Given the description of an element on the screen output the (x, y) to click on. 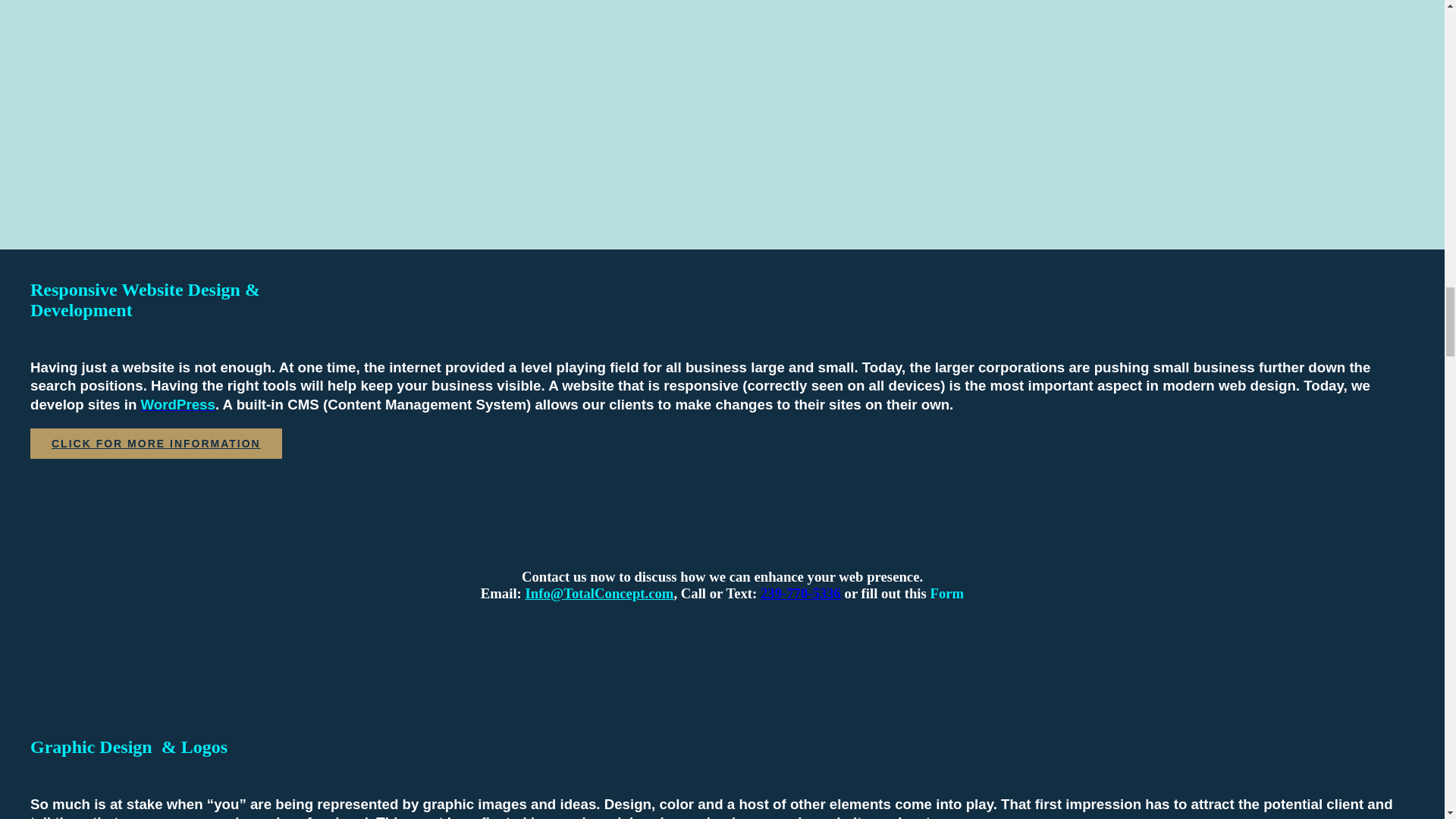
WordPress (178, 404)
WordPress (178, 404)
web inquiry (598, 593)
239-770-5336 (800, 593)
CLICK FOR MORE INFORMATION (156, 443)
